Given the description of an element on the screen output the (x, y) to click on. 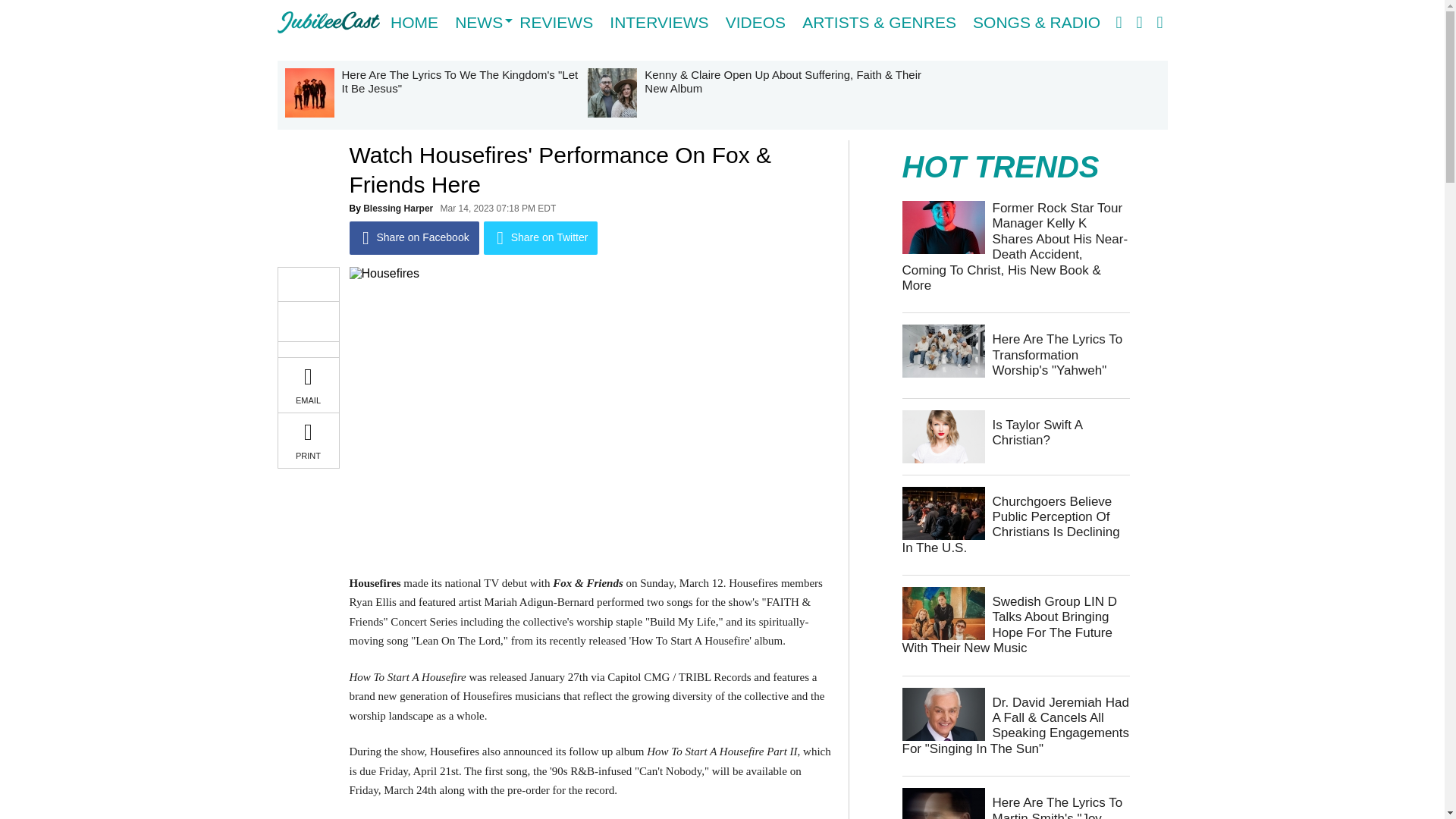
Share on Twitter (540, 237)
NEWS (478, 22)
VIDEOS (755, 22)
PRINT (307, 440)
Blessing Harper (397, 208)
REVIEWS (555, 22)
EMAIL (307, 384)
Twitter Follow Button (307, 321)
INTERVIEWS (659, 22)
HOME (414, 22)
Hallels (329, 22)
Here Are The Lyrics To We The Kingdom'S "Let It Be Jesus" (435, 96)
Share on Facebook (414, 237)
